Given the description of an element on the screen output the (x, y) to click on. 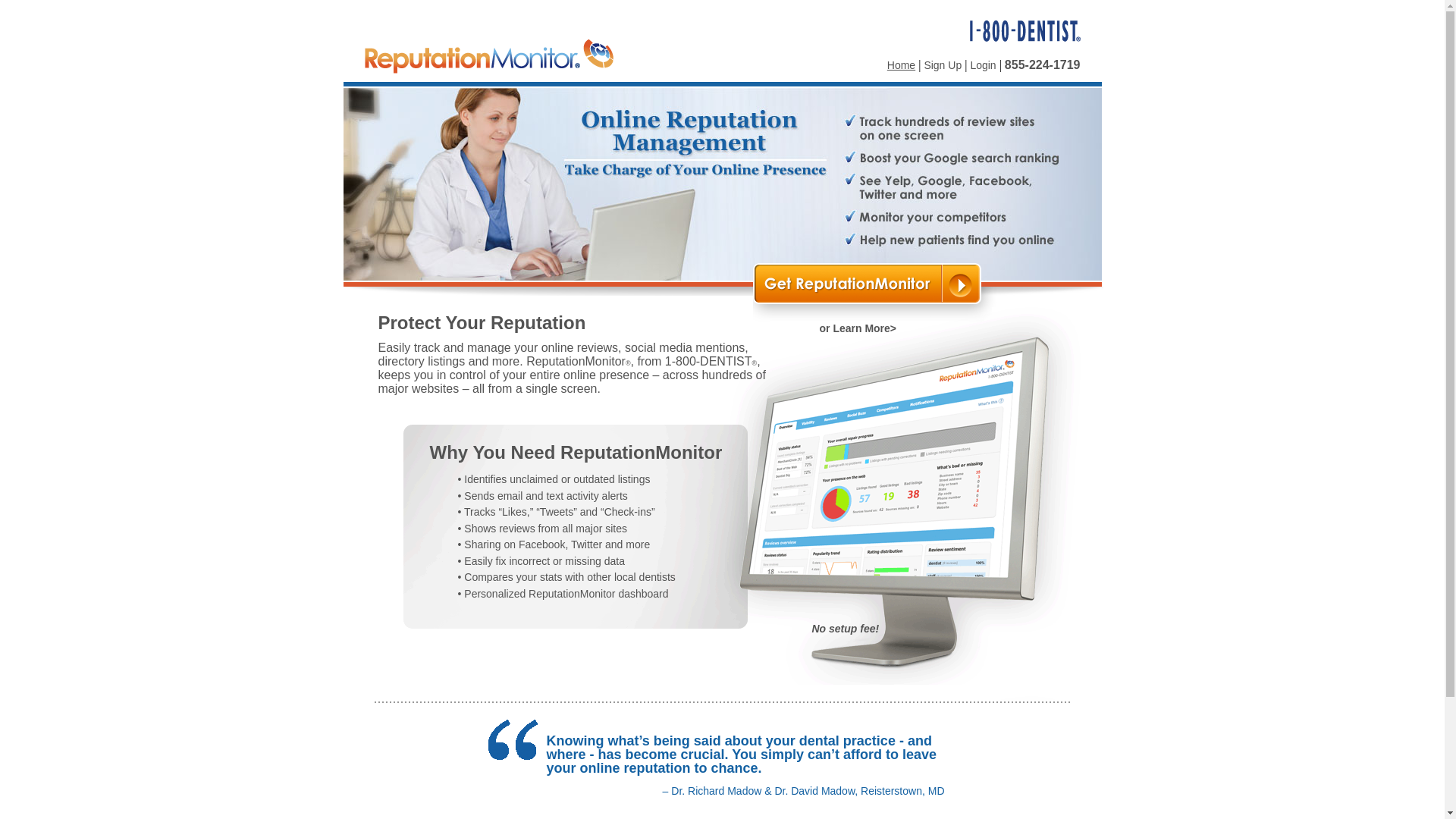
Login Element type: text (982, 65)
Sign Up Element type: text (942, 65)
or Learn More> Element type: text (857, 328)
